Given the description of an element on the screen output the (x, y) to click on. 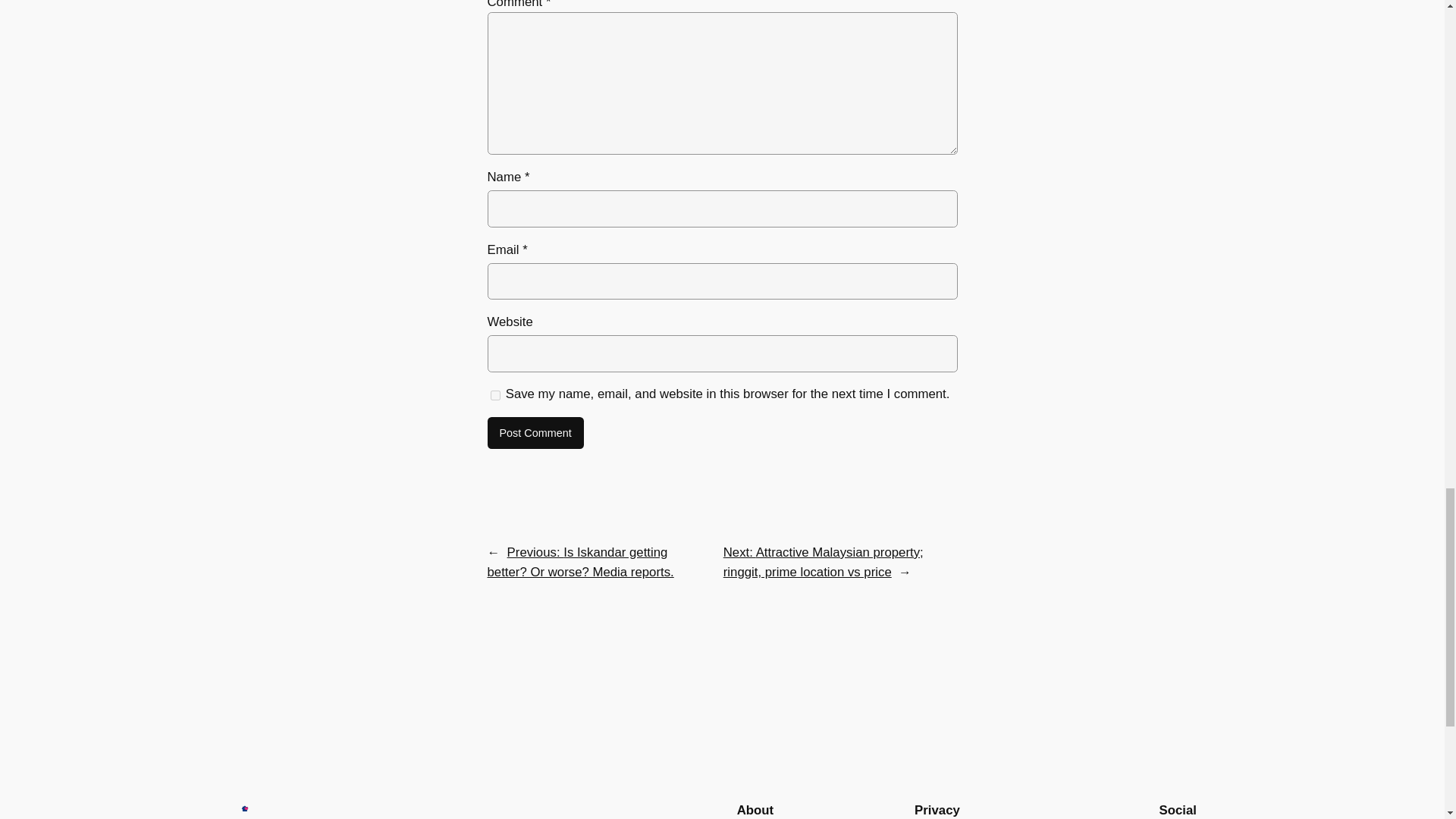
yes (494, 395)
Post Comment (534, 432)
Post Comment (534, 432)
